Given the description of an element on the screen output the (x, y) to click on. 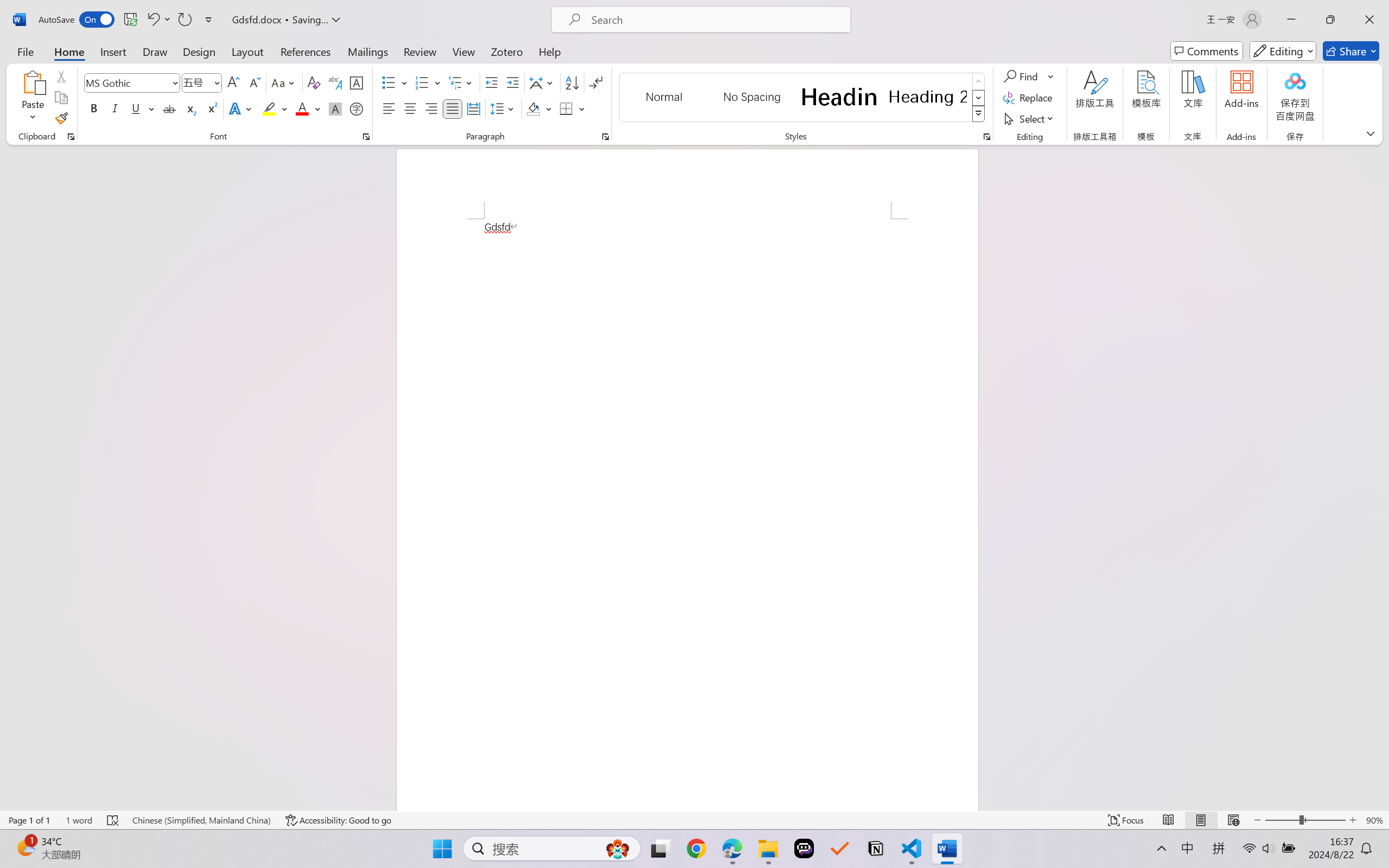
Grow Font (233, 82)
Styles (978, 113)
Character Shading (334, 108)
Distributed (473, 108)
Repeat Formatting (184, 19)
Cut (60, 75)
Shading (539, 108)
